Given the description of an element on the screen output the (x, y) to click on. 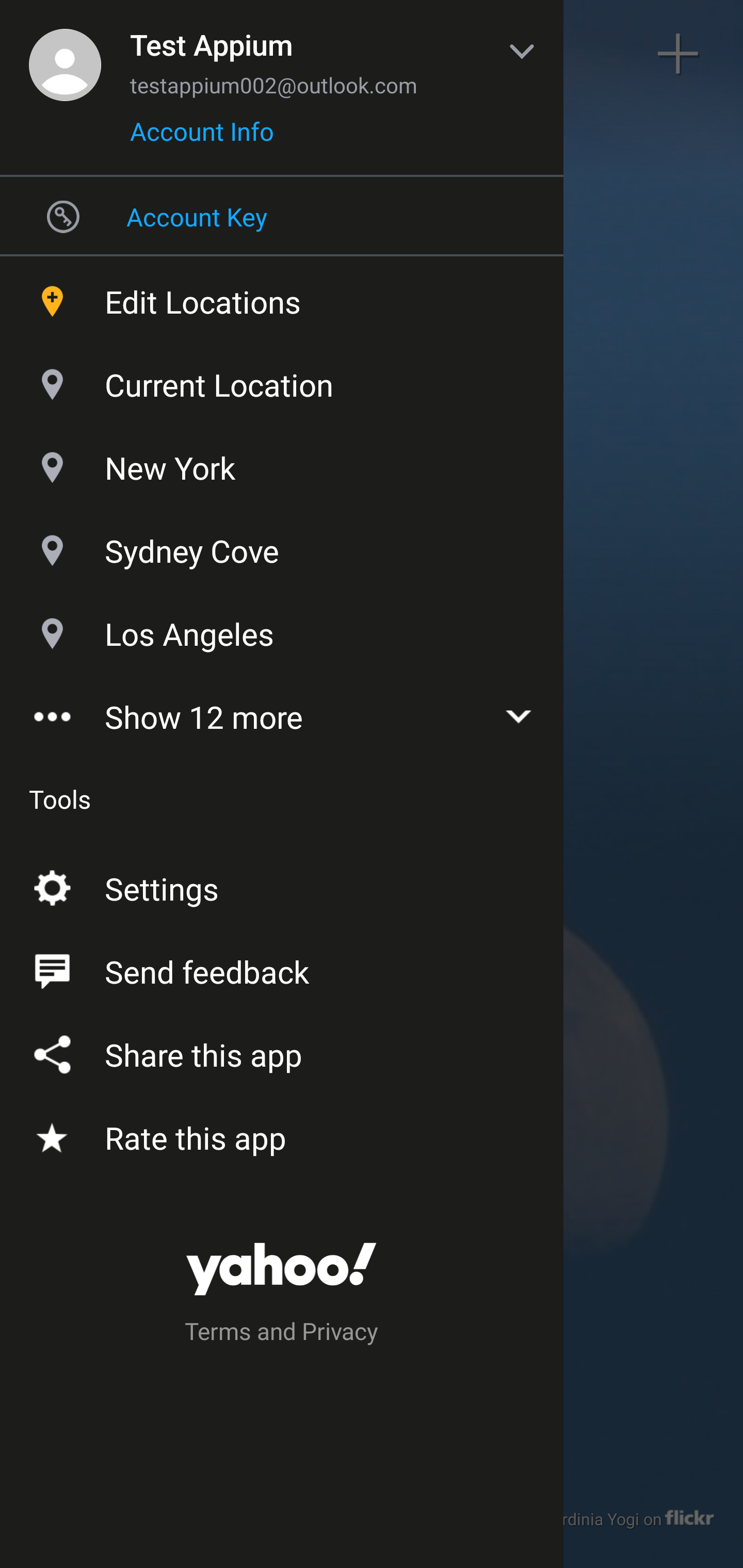
Sidebar (64, 54)
Account Info (202, 137)
Account Key (281, 216)
Edit Locations (281, 296)
Current Location (281, 379)
New York (281, 462)
Sydney Cove (281, 546)
Los Angeles (281, 629)
Settings (281, 884)
Send feedback (281, 967)
Share this app (281, 1050)
Terms and Privacy Terms and privacy button (281, 1334)
